Given the description of an element on the screen output the (x, y) to click on. 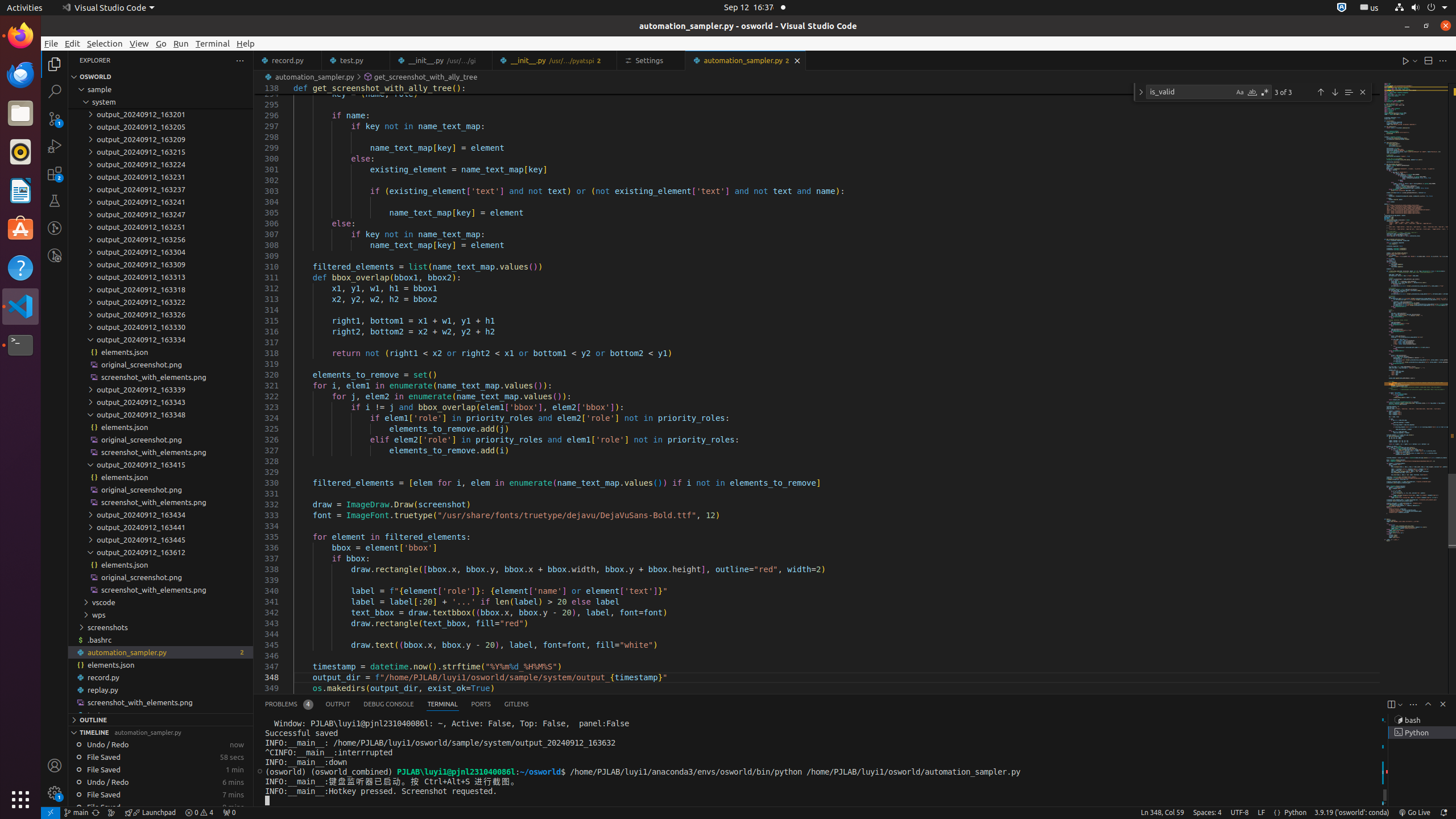
UTF-8 Element type: push-button (1239, 812)
Views and More Actions... Element type: push-button (1413, 703)
test.py Element type: tree-item (160, 714)
3.9.19 ('osworld': conda), ~/anaconda3/envs/osworld/bin/python Element type: push-button (1351, 812)
output_20240912_163224 Element type: tree-item (160, 164)
